Given the description of an element on the screen output the (x, y) to click on. 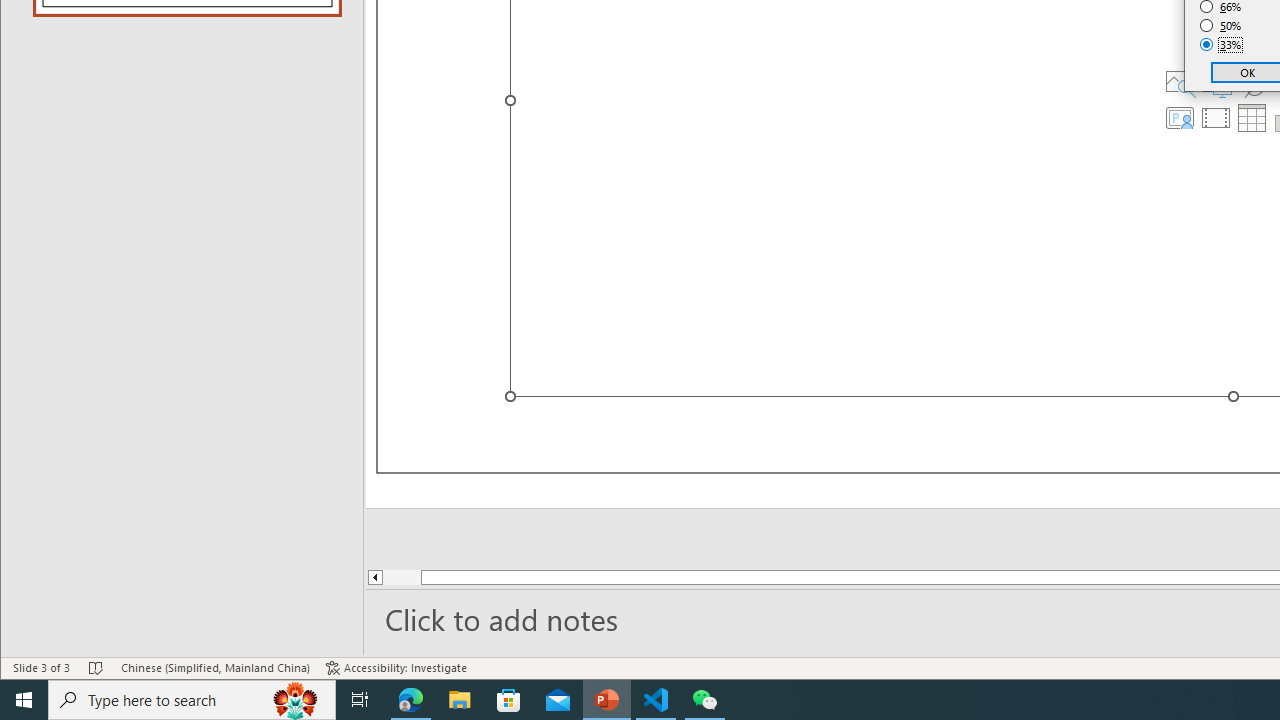
Insert Table (1252, 117)
33% (1221, 44)
WeChat - 1 running window (704, 699)
Insert Video (1215, 117)
50% (1221, 25)
Insert Cameo (1179, 117)
